Given the description of an element on the screen output the (x, y) to click on. 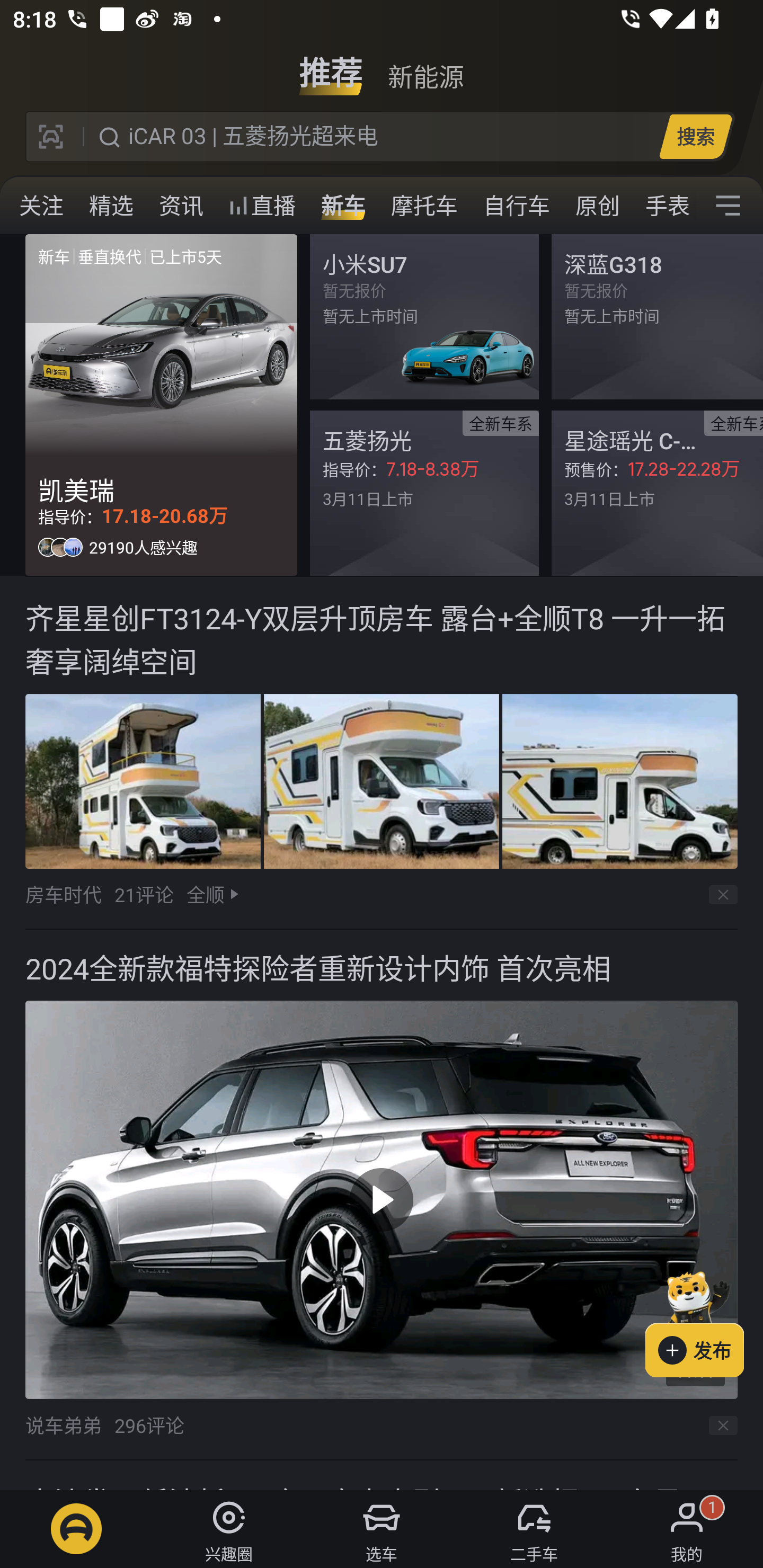
推荐 (330, 65)
新能源 (425, 65)
搜索 (695, 136)
关注 (41, 205)
精选 (111, 205)
资讯 (180, 205)
直播 (261, 205)
新车 (343, 205)
摩托车 (424, 205)
自行车 (516, 205)
原创 (597, 205)
手表 (663, 205)
 (727, 205)
暂无报价 (423, 316)
暂无报价 (657, 316)
全新车系指导价：7.18-8.38万 (423, 492)
全新车系预售价：17.28-22.28万 (657, 492)
齐星星创FT3124-Y双层升顶房车 露台+全顺T8 一升一拓奢享阔绰空间 房车时代 21评论 全顺 (381, 753)
全顺 (205, 894)
2024全新款福特探险者重新设计内饰 首次亮相  05:50 说车弟弟 296评论 (381, 1194)
发布 (704, 1320)
 兴趣圈 (228, 1528)
 选车 (381, 1528)
 二手车 (533, 1528)
 我的 (686, 1528)
